Given the description of an element on the screen output the (x, y) to click on. 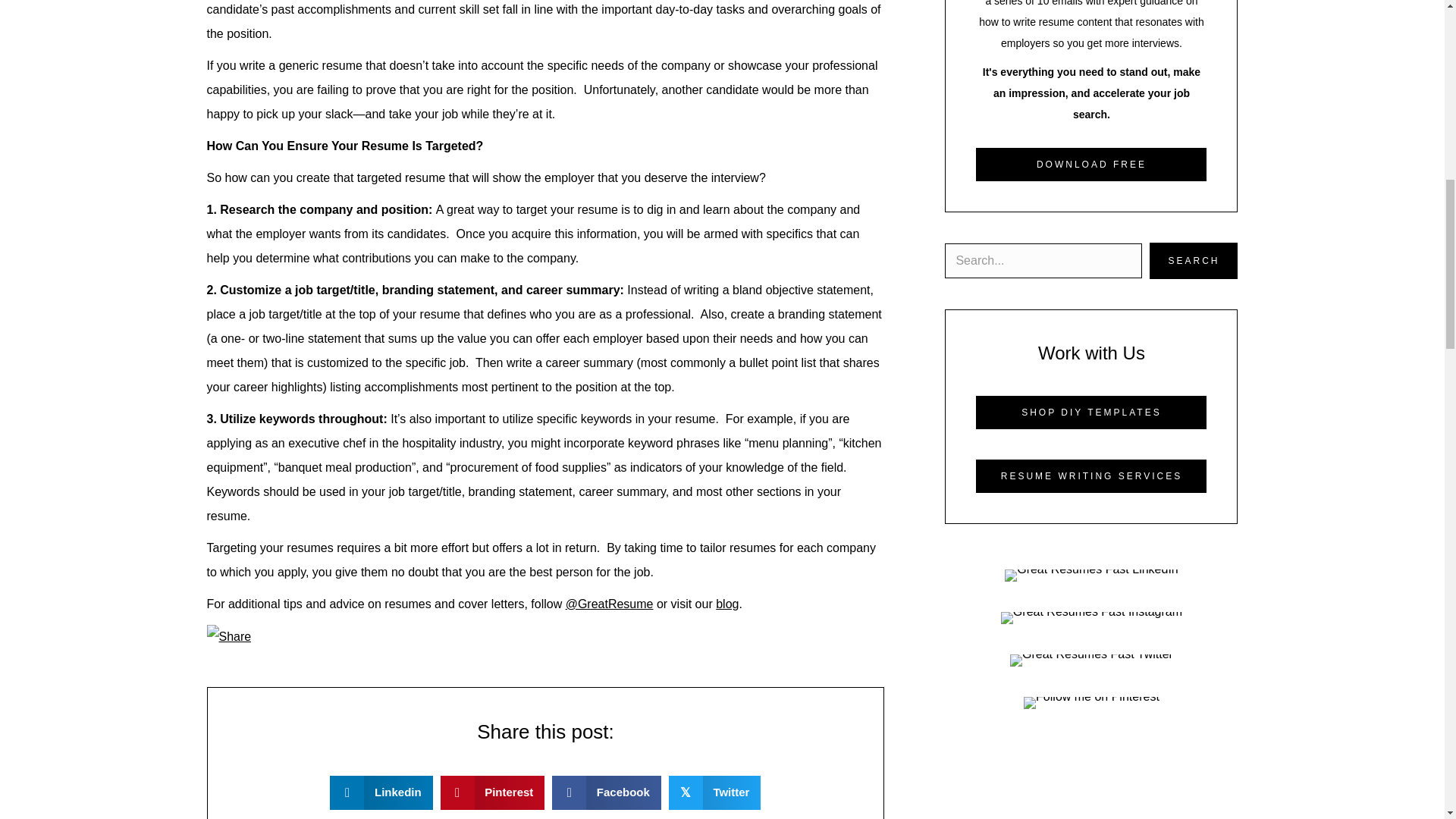
Linkedin (381, 792)
blog (727, 603)
